Given the description of an element on the screen output the (x, y) to click on. 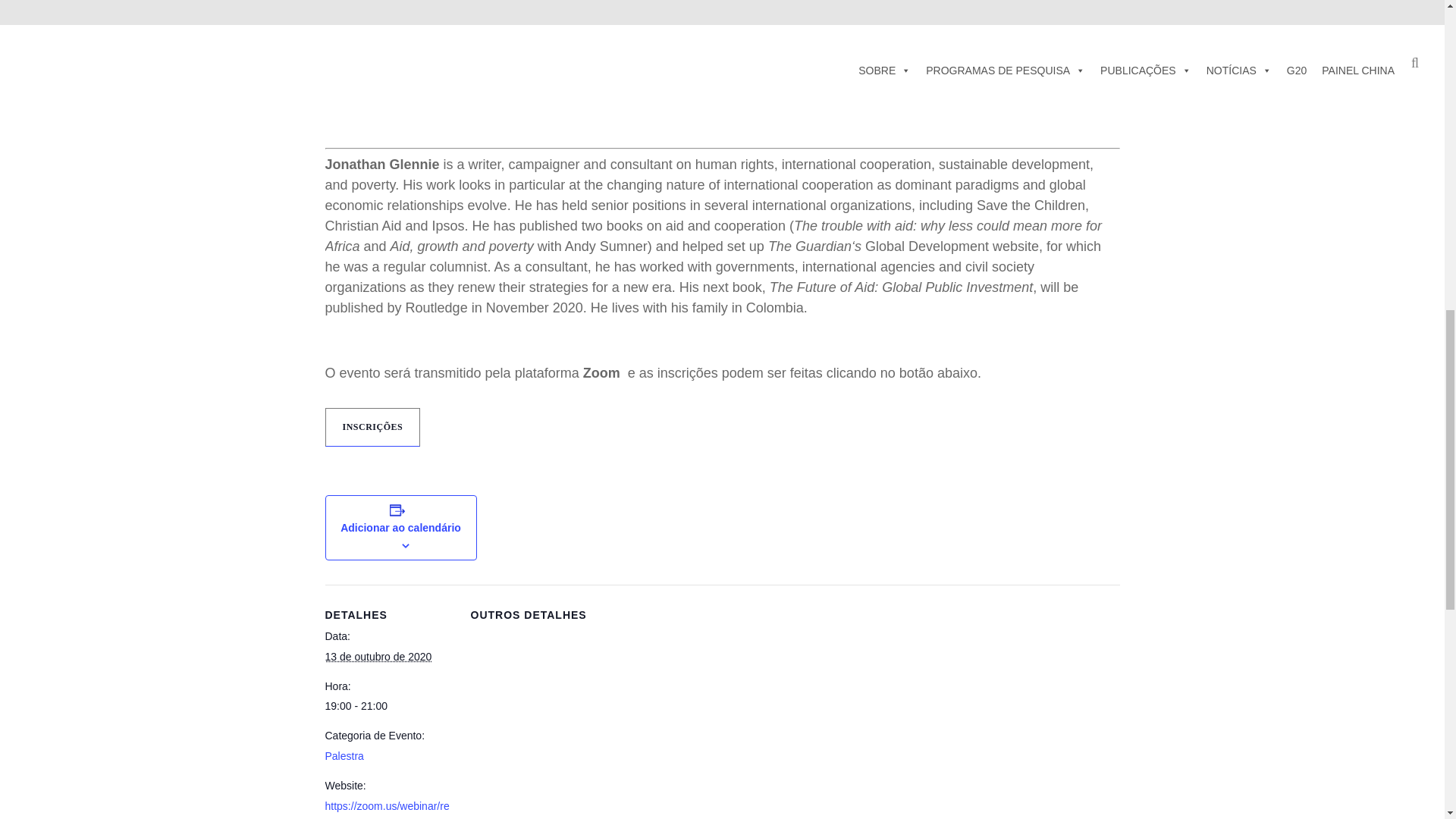
2020-10-13 (387, 705)
2020-10-13 (377, 656)
